Given the description of an element on the screen output the (x, y) to click on. 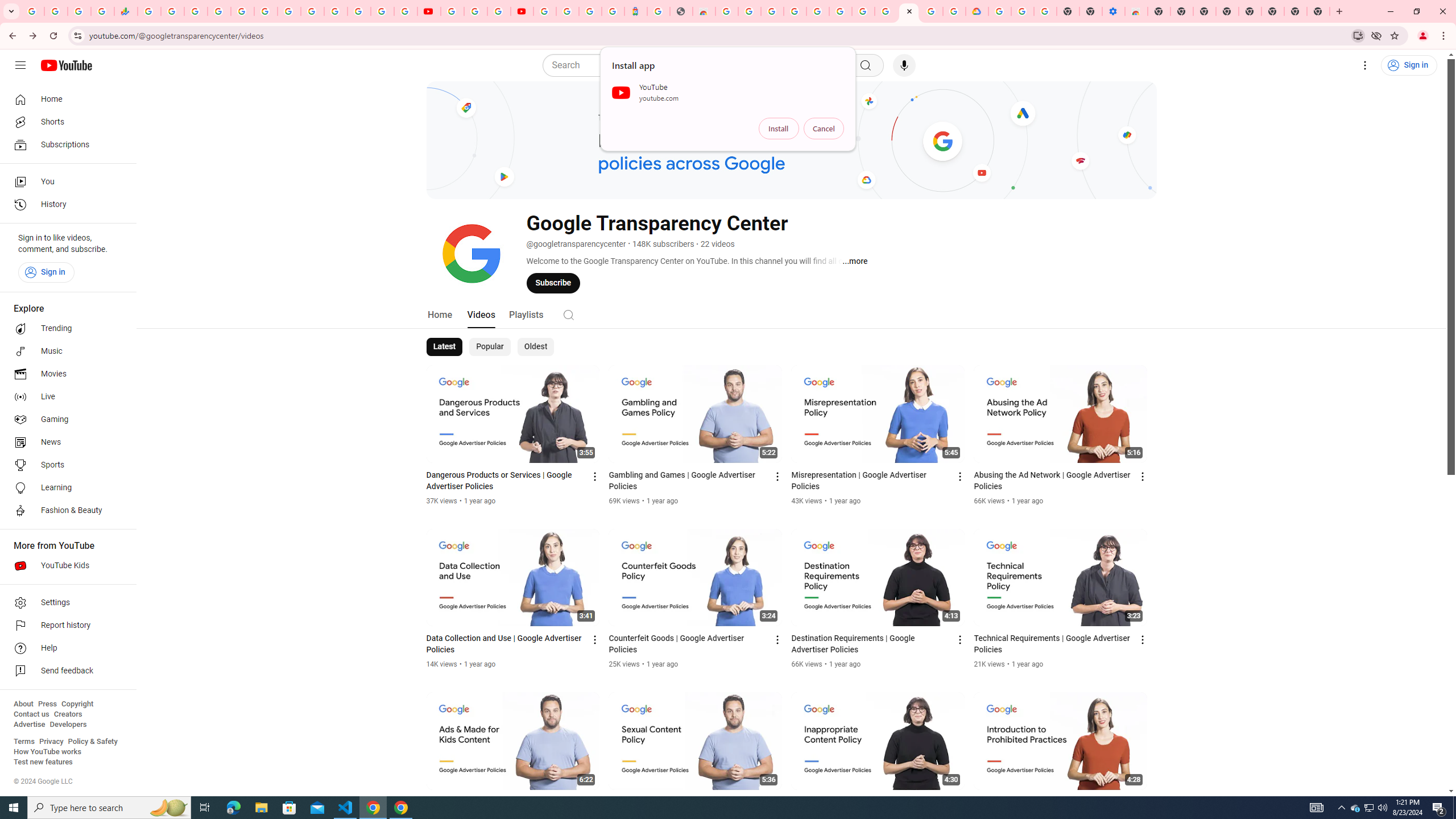
Guide (20, 65)
Home (64, 99)
Sign in - Google Accounts (999, 11)
Cancel (823, 128)
Developers (68, 724)
Create your Google Account (931, 11)
Shorts (64, 121)
Sign in - Google Accounts (335, 11)
Chrome Web Store - Household (703, 11)
Create your Google Account (749, 11)
Sign in - Google Accounts (218, 11)
